Given the description of an element on the screen output the (x, y) to click on. 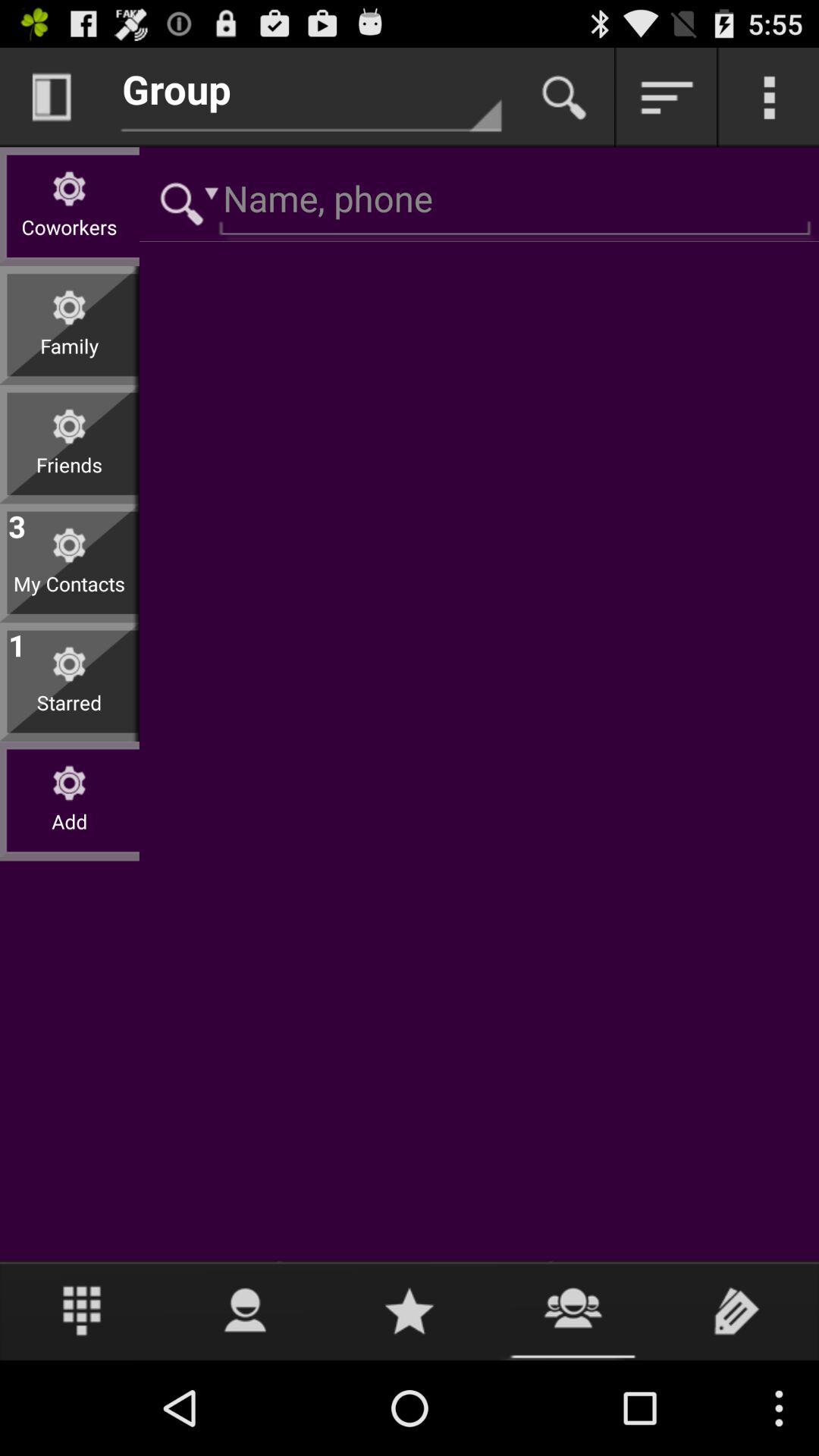
scroll to add icon (69, 833)
